Given the description of an element on the screen output the (x, y) to click on. 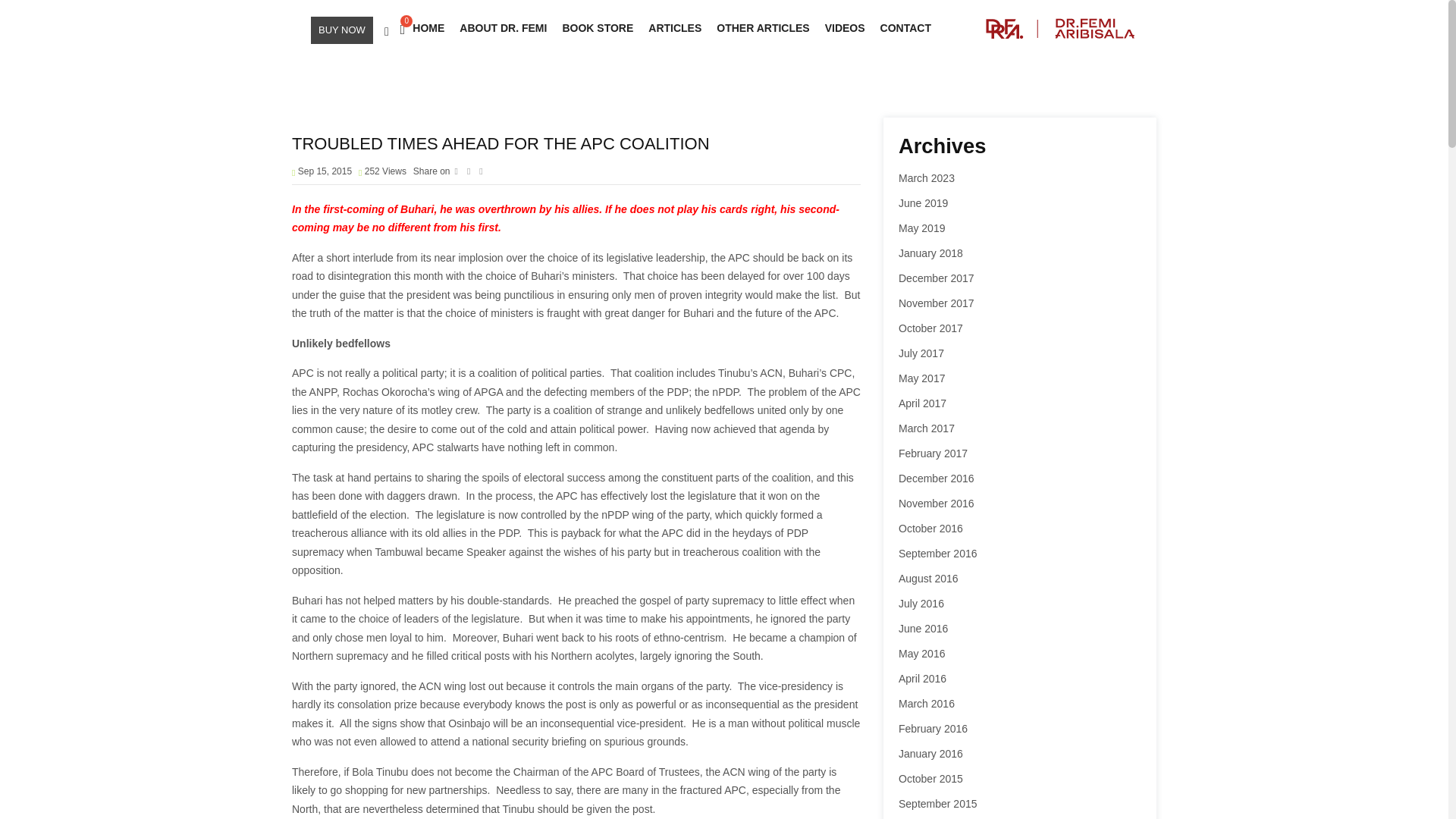
OTHER ARTICLES (762, 28)
CONTACT (905, 28)
BOOK STORE (597, 28)
ARTICLES (674, 28)
BUY NOW (341, 30)
ABOUT DR. FEMI (502, 28)
0 (397, 28)
Femi Aribisala (1059, 28)
VIDEOS (844, 28)
